Given the description of an element on the screen output the (x, y) to click on. 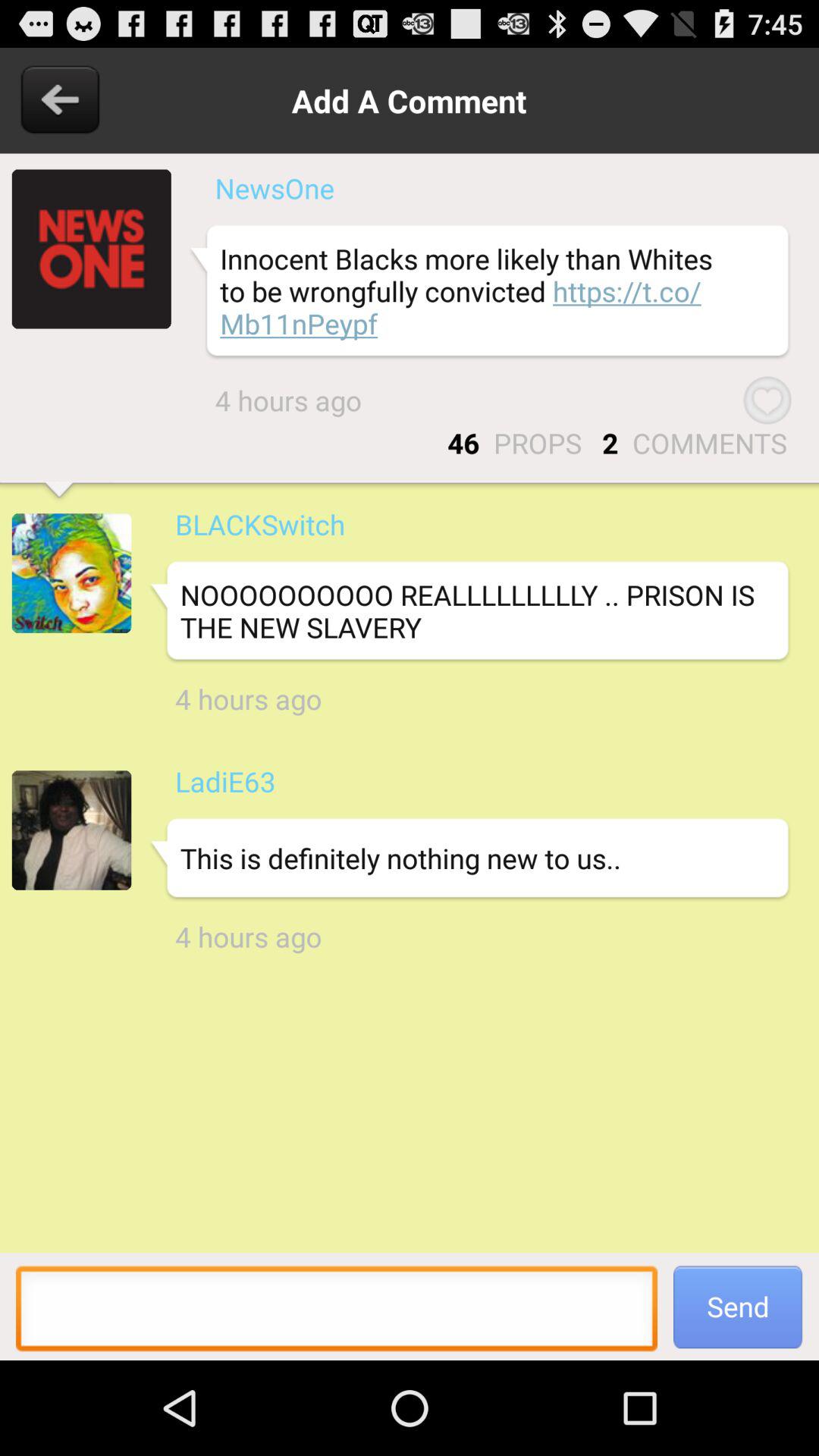
creat message (336, 1312)
